Given the description of an element on the screen output the (x, y) to click on. 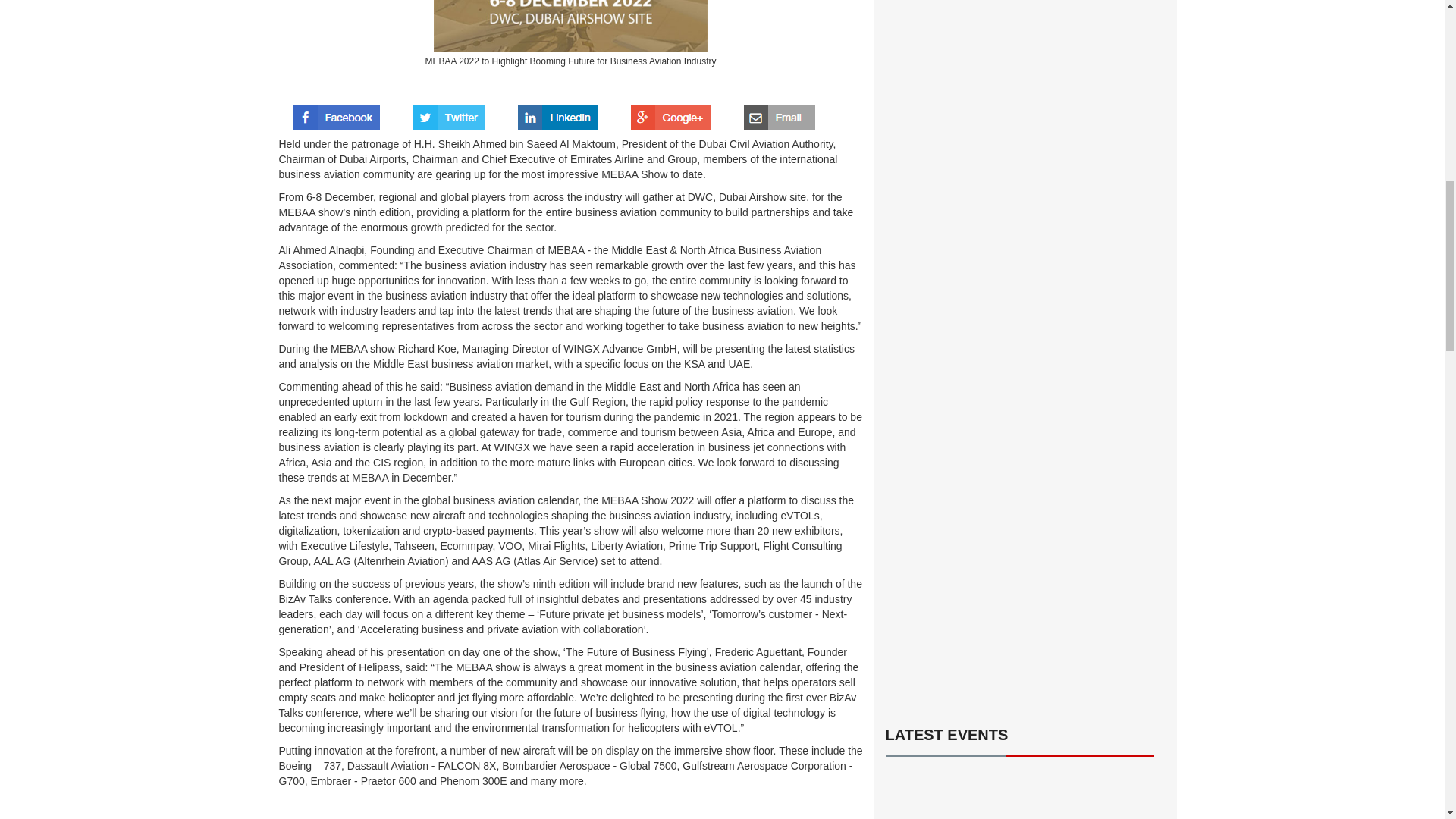
Visit defaiya on Facebook (337, 112)
Tweet this (448, 112)
Share on LinkedIn (557, 112)
